Given the description of an element on the screen output the (x, y) to click on. 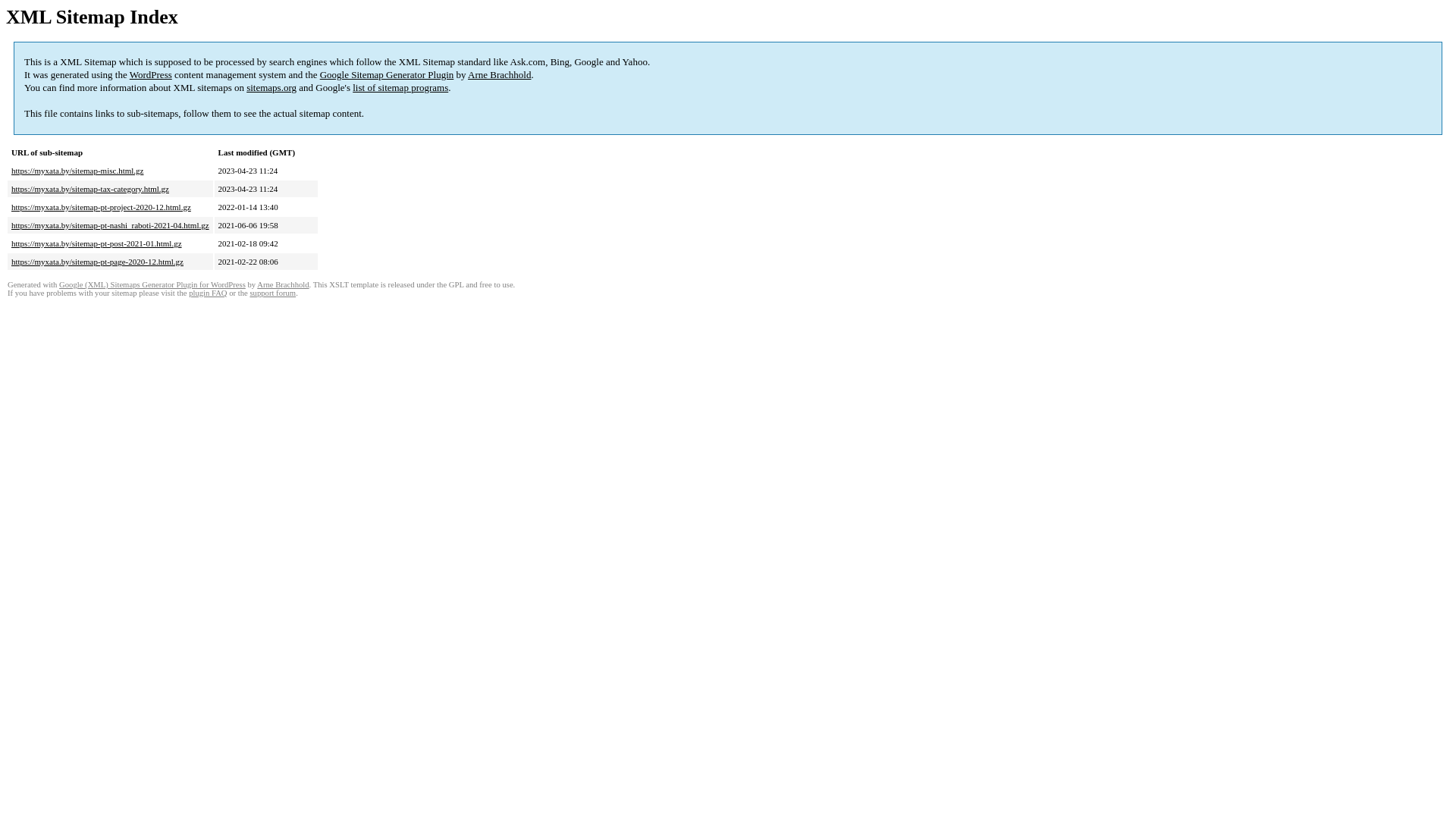
Arne Brachhold Element type: text (498, 74)
https://myxata.by/sitemap-misc.html.gz Element type: text (77, 170)
https://myxata.by/sitemap-pt-page-2020-12.html.gz Element type: text (97, 261)
Google (XML) Sitemaps Generator Plugin for WordPress Element type: text (152, 284)
Google Sitemap Generator Plugin Element type: text (387, 74)
plugin FAQ Element type: text (207, 292)
https://myxata.by/sitemap-pt-project-2020-12.html.gz Element type: text (101, 206)
Arne Brachhold Element type: text (282, 284)
https://myxata.by/sitemap-pt-nashi_raboti-2021-04.html.gz Element type: text (110, 224)
support forum Element type: text (272, 292)
https://myxata.by/sitemap-tax-category.html.gz Element type: text (90, 188)
WordPress Element type: text (150, 74)
sitemaps.org Element type: text (271, 87)
https://myxata.by/sitemap-pt-post-2021-01.html.gz Element type: text (96, 242)
list of sitemap programs Element type: text (400, 87)
